Given the description of an element on the screen output the (x, y) to click on. 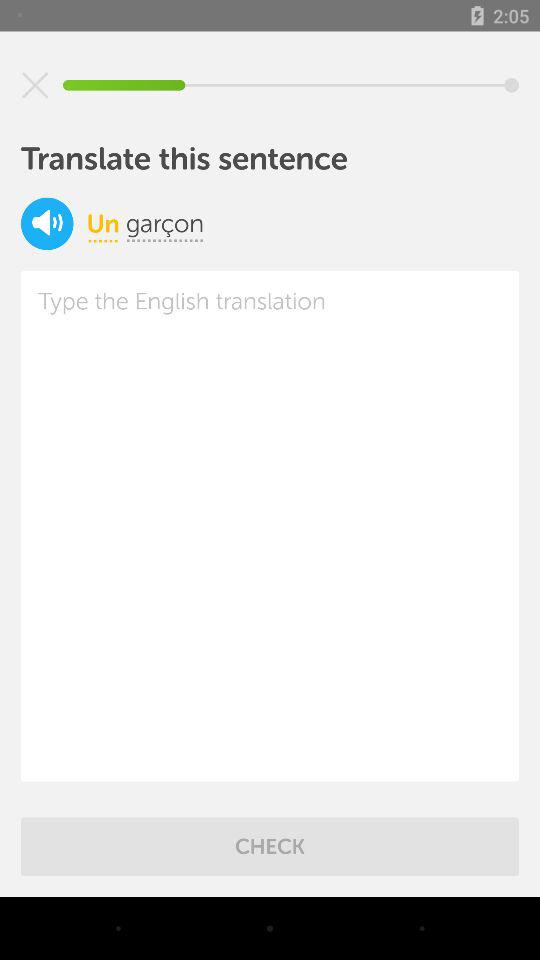
close quiz (35, 85)
